Given the description of an element on the screen output the (x, y) to click on. 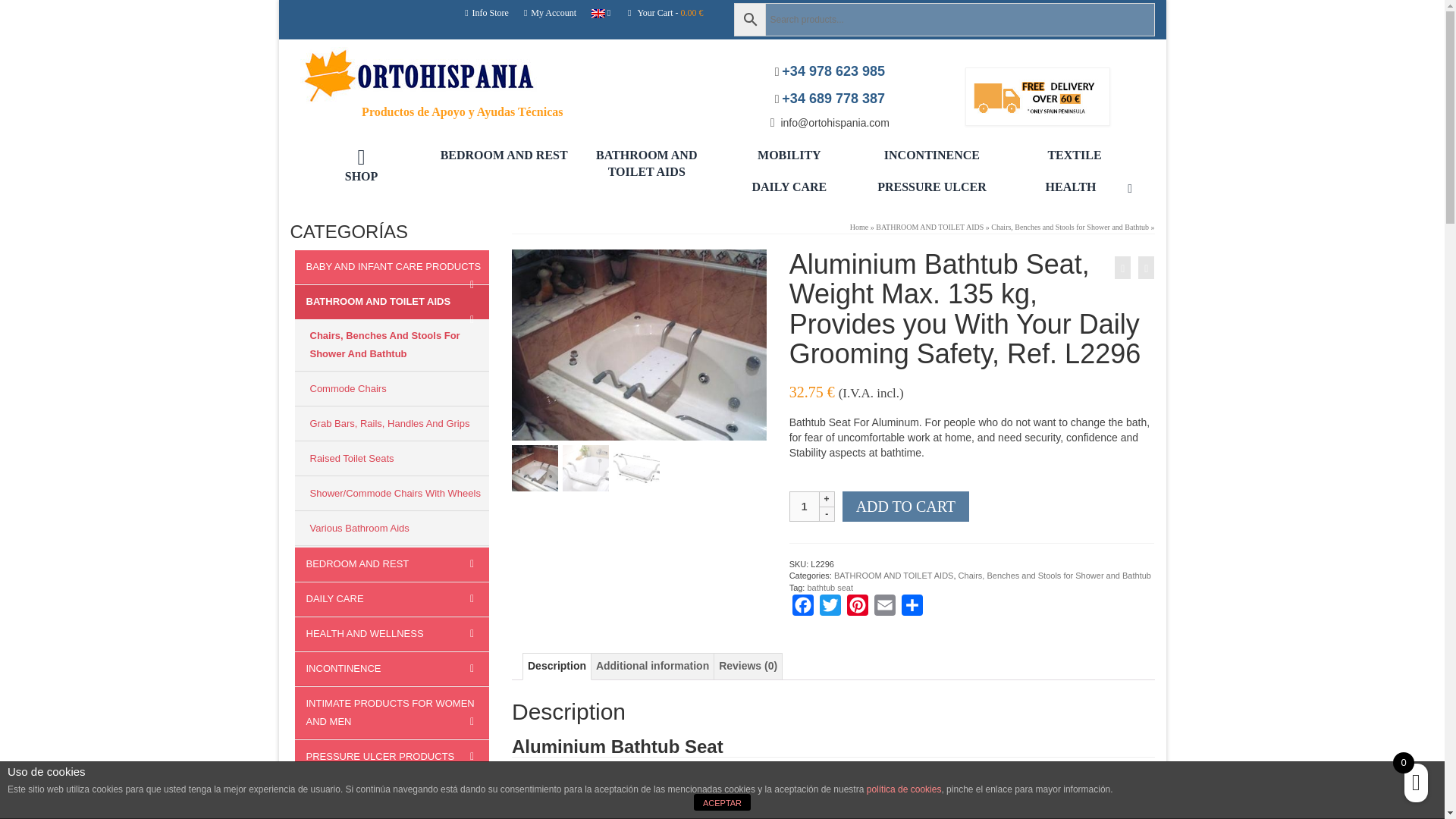
Home (858, 226)
Twitter (830, 608)
INCONTINENCE (931, 155)
SHOP (360, 165)
Email (884, 608)
Qty (804, 506)
Info Store (486, 12)
1 (804, 506)
DAILY CARE (788, 187)
TEXTILE (1074, 155)
Chairs, Benches and Stools for Shower and Bathtub (1069, 226)
HEALTH (1074, 187)
BATHROOM AND TOILET AIDS (930, 226)
MOBILITY (788, 155)
My Account (549, 12)
